Given the description of an element on the screen output the (x, y) to click on. 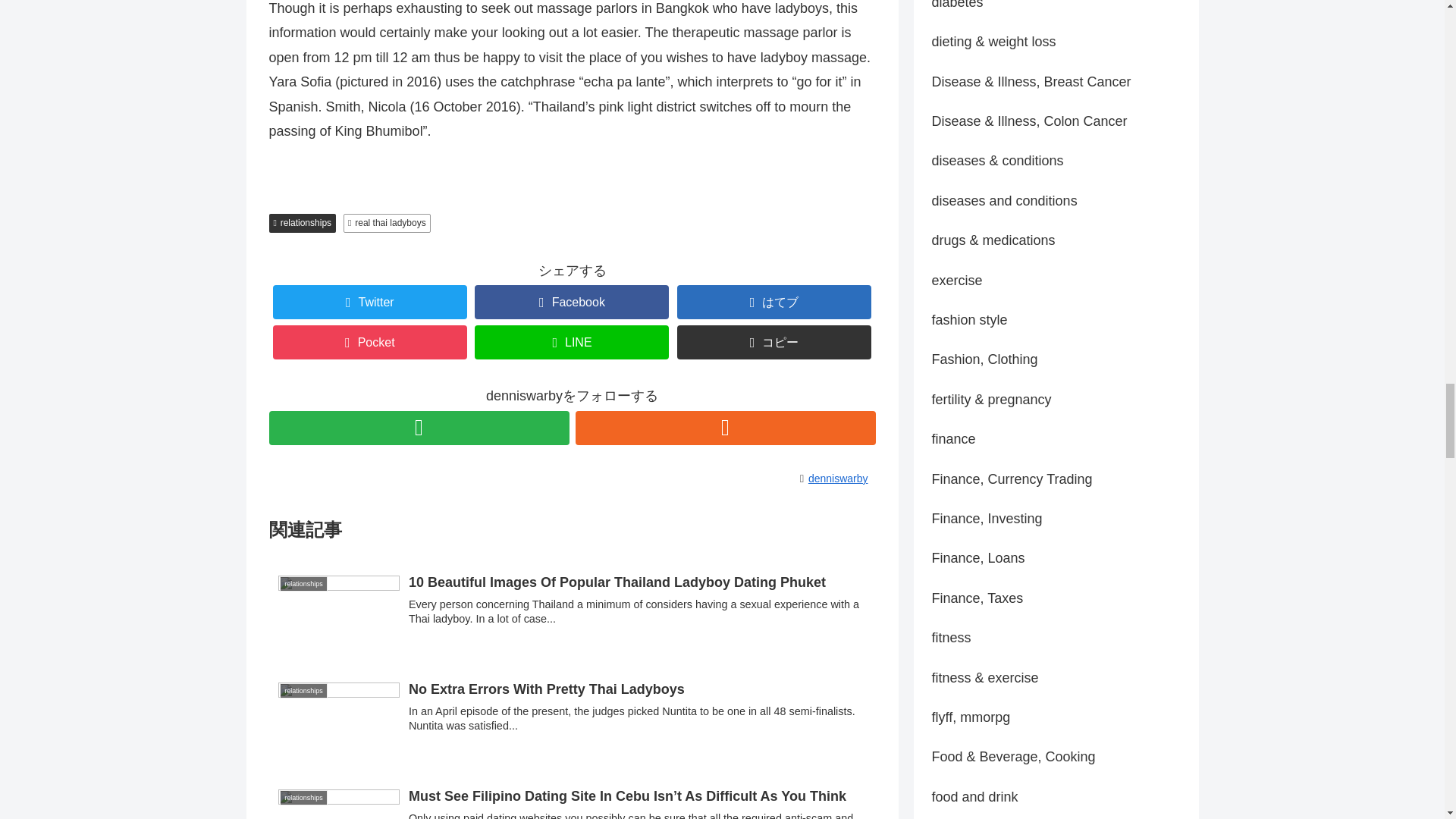
relationships (301, 223)
denniswarby (841, 478)
Pocket (370, 342)
No Extra Errors With Pretty Thai Ladyboys (571, 713)
LINE (571, 342)
Twitter (370, 302)
real thai ladyboys (386, 223)
Facebook (571, 302)
